Given the description of an element on the screen output the (x, y) to click on. 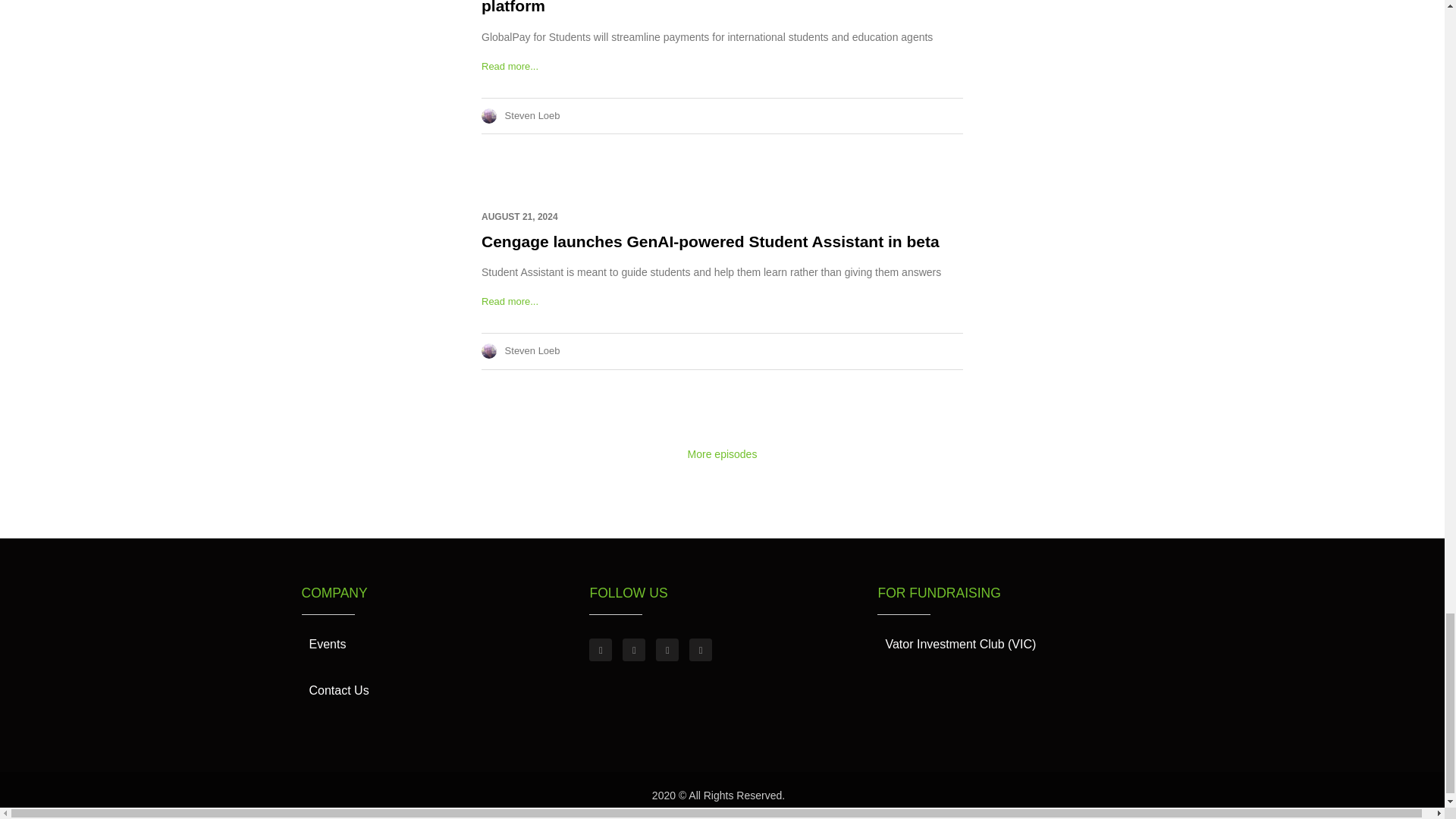
Events (327, 644)
Cengage launches GenAI-powered Student Assistant in beta (710, 241)
Contact Us (338, 690)
Read more... (509, 301)
Read more... (509, 66)
More episodes (722, 453)
